Given the description of an element on the screen output the (x, y) to click on. 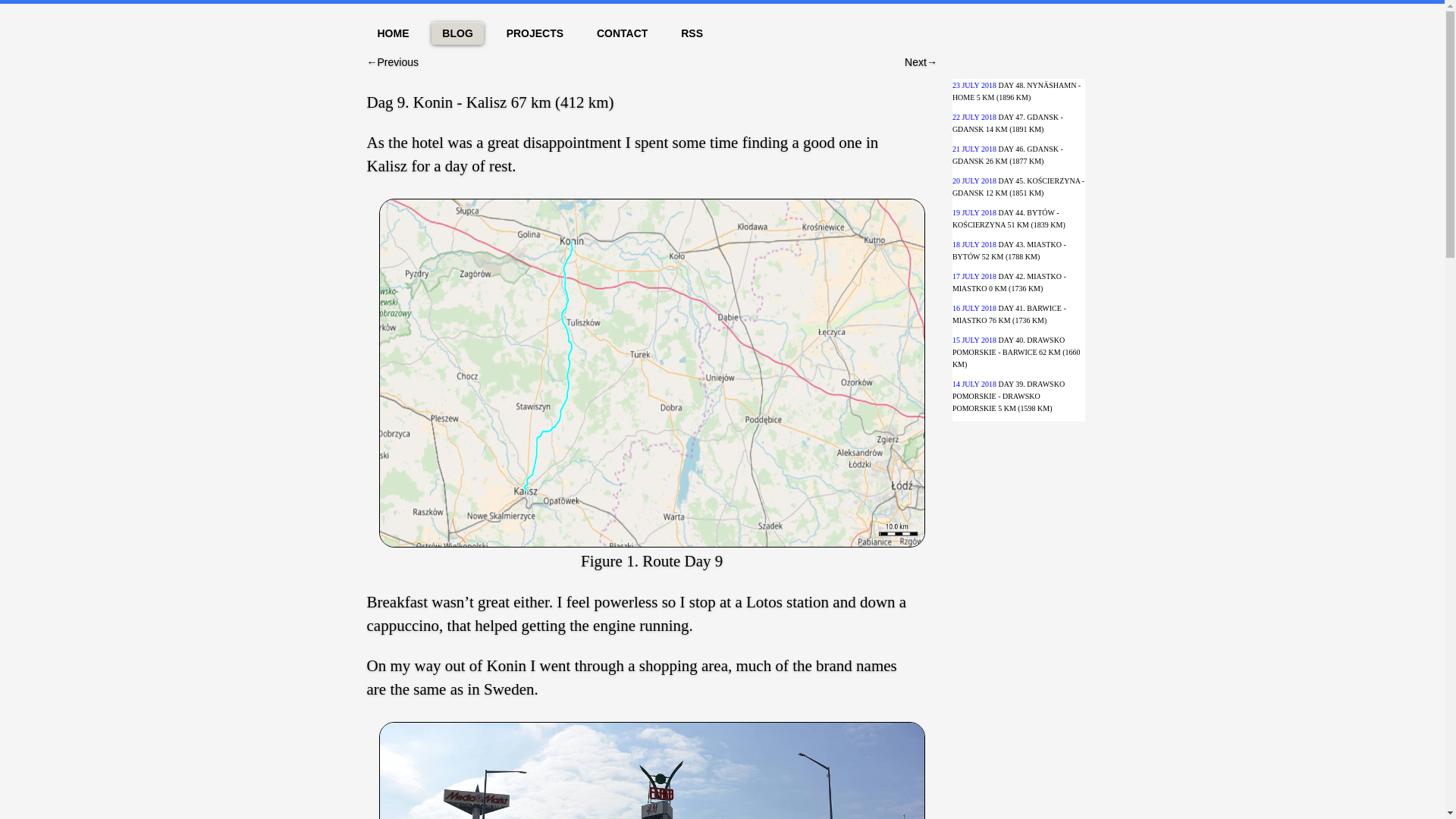
RSS (691, 33)
HOME (393, 33)
CONTACT (622, 33)
BLOG (456, 33)
PROJECTS (534, 33)
